Given the description of an element on the screen output the (x, y) to click on. 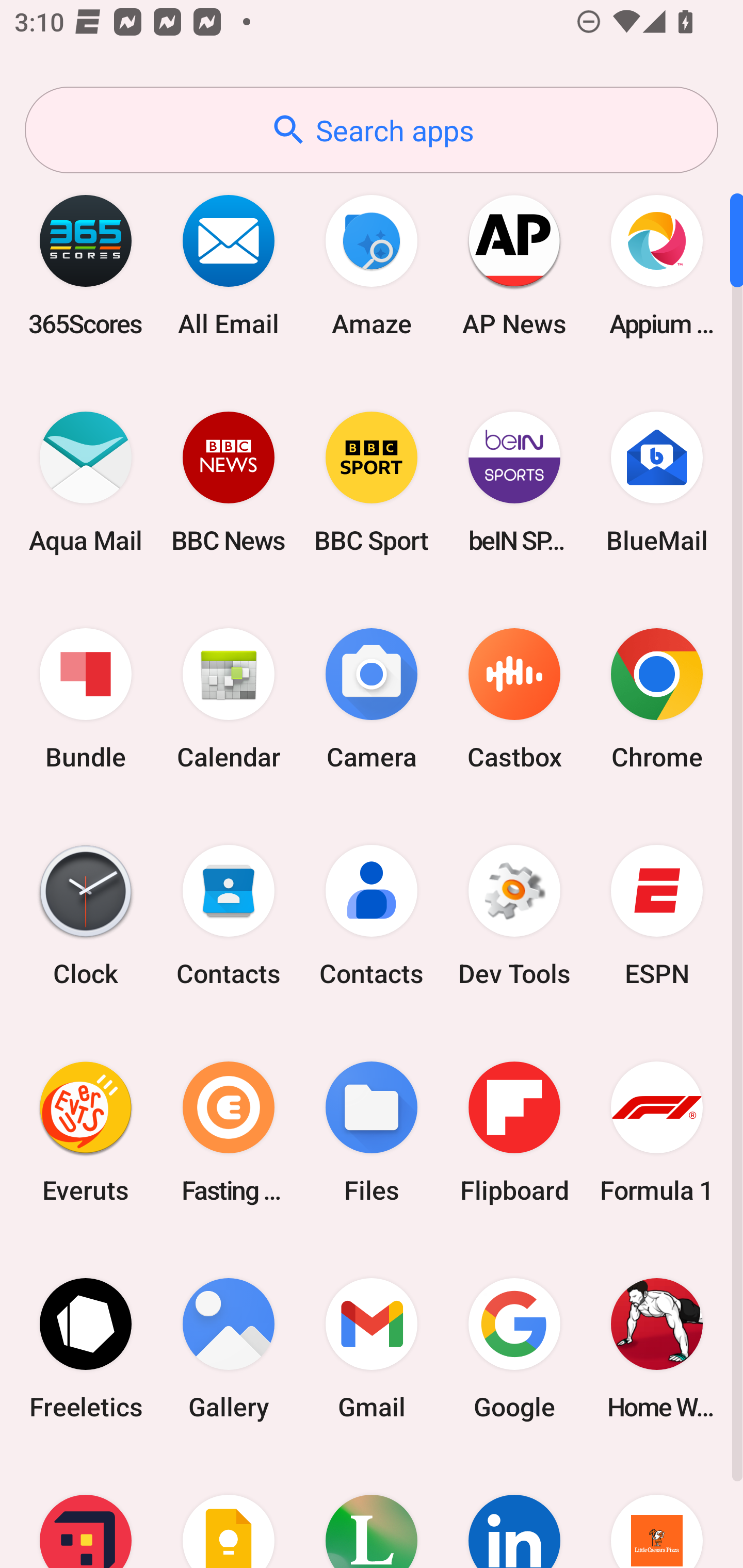
  Search apps (371, 130)
365Scores (85, 264)
All Email (228, 264)
Amaze (371, 264)
AP News (514, 264)
Appium Settings (656, 264)
Aqua Mail (85, 482)
BBC News (228, 482)
BBC Sport (371, 482)
beIN SPORTS (514, 482)
BlueMail (656, 482)
Bundle (85, 699)
Calendar (228, 699)
Camera (371, 699)
Castbox (514, 699)
Chrome (656, 699)
Clock (85, 915)
Contacts (228, 915)
Contacts (371, 915)
Dev Tools (514, 915)
ESPN (656, 915)
Everuts (85, 1131)
Fasting Coach (228, 1131)
Files (371, 1131)
Flipboard (514, 1131)
Formula 1 (656, 1131)
Freeletics (85, 1348)
Gallery (228, 1348)
Gmail (371, 1348)
Google (514, 1348)
Home Workout (656, 1348)
Hotels.com (85, 1512)
Keep Notes (228, 1512)
Lifesum (371, 1512)
LinkedIn (514, 1512)
Little Caesars Pizza (656, 1512)
